Given the description of an element on the screen output the (x, y) to click on. 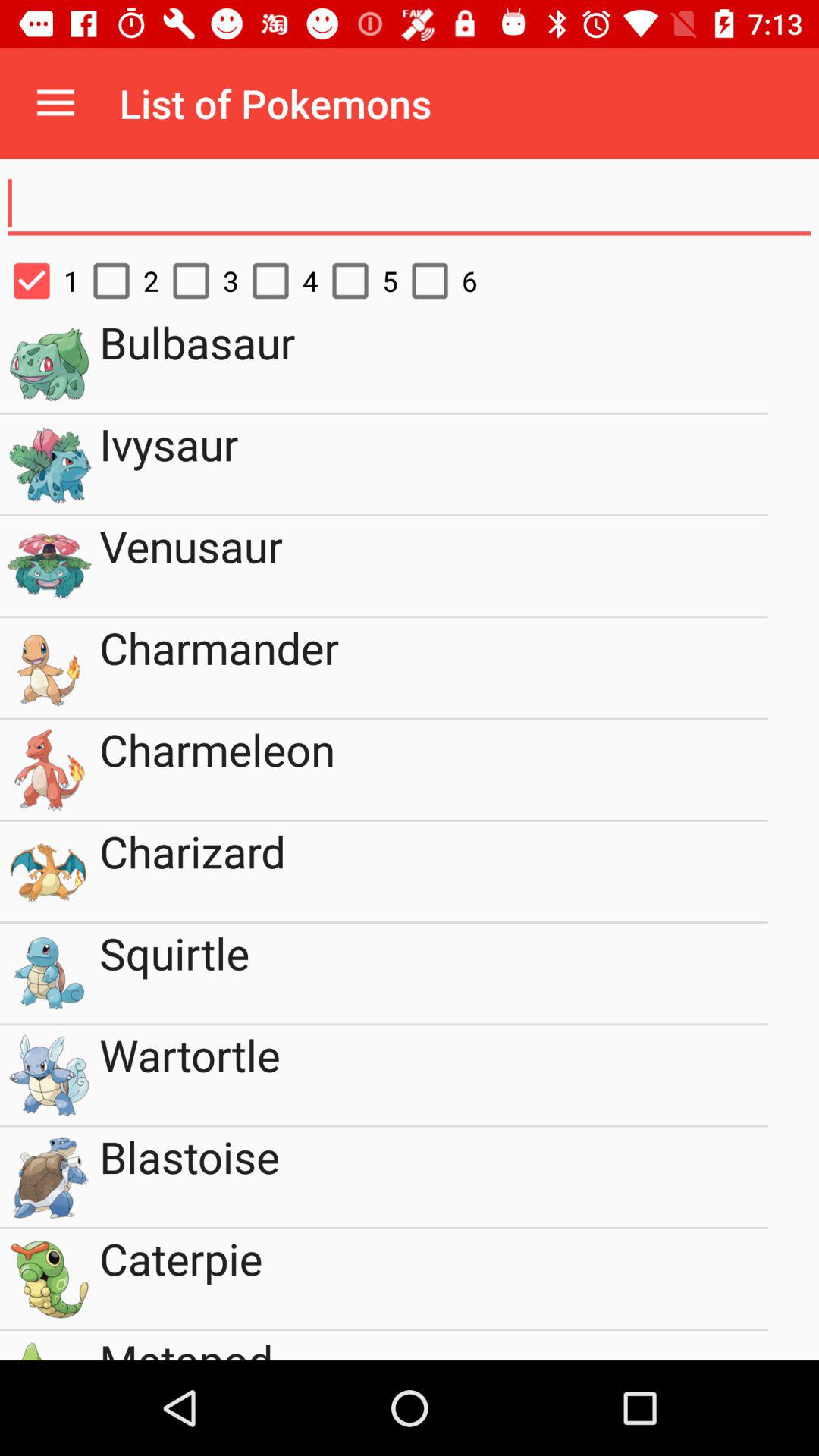
tap item next to the 5 (437, 280)
